Given the description of an element on the screen output the (x, y) to click on. 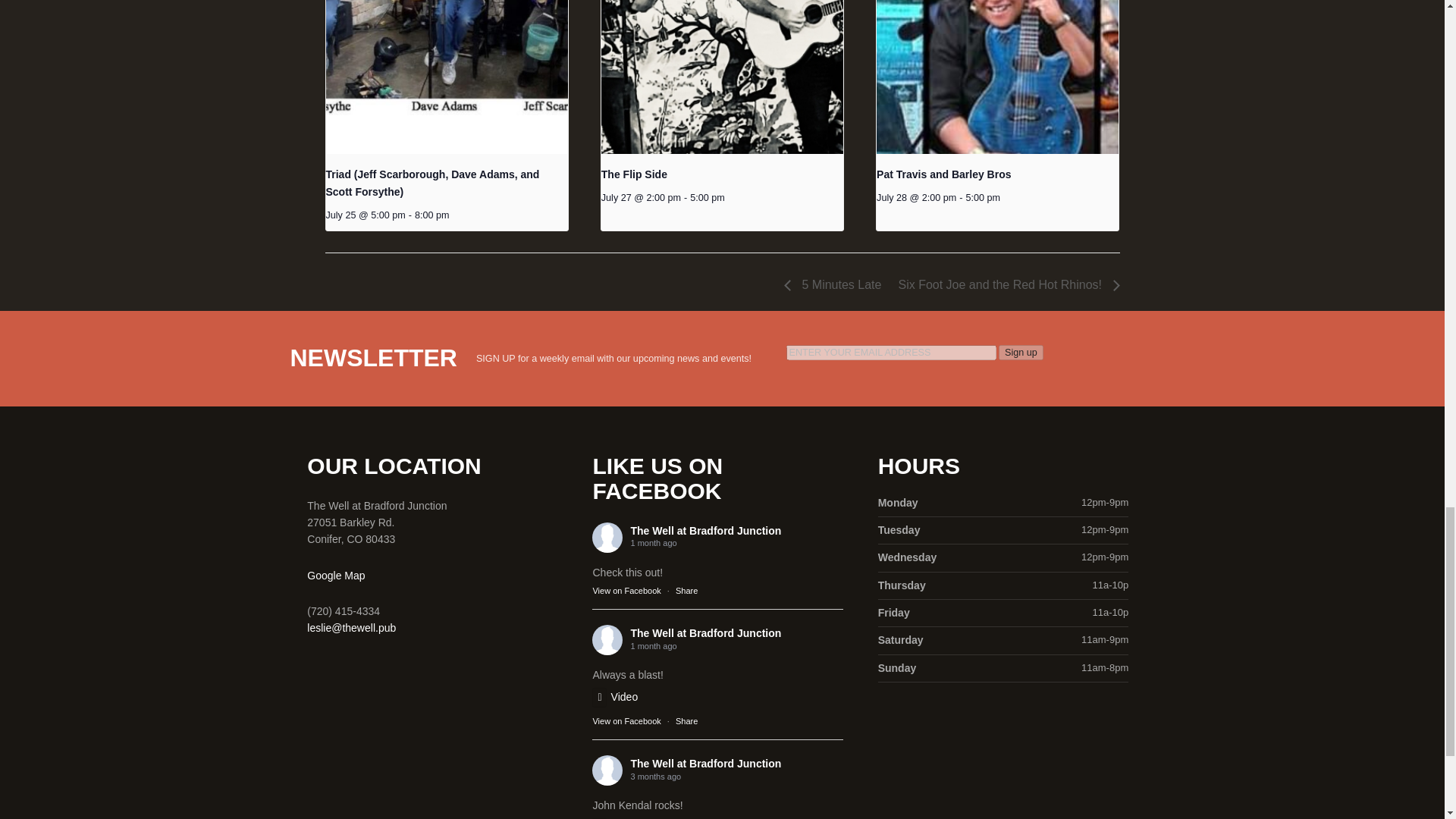
View on Facebook (626, 590)
Google Map (336, 575)
The Well at Bradford Junction (705, 633)
Pat Travis and Barley Bros (943, 174)
Share (686, 590)
Sign up (1020, 352)
Share (686, 720)
The Well at Bradford Junction (705, 530)
View on Facebook (626, 720)
Share (686, 590)
5 Minutes Late (836, 284)
Sign up (1020, 352)
Six Foot Joe and the Red Hot Rhinos! (1004, 284)
The Flip Side (633, 174)
View on Facebook (626, 590)
